Given the description of an element on the screen output the (x, y) to click on. 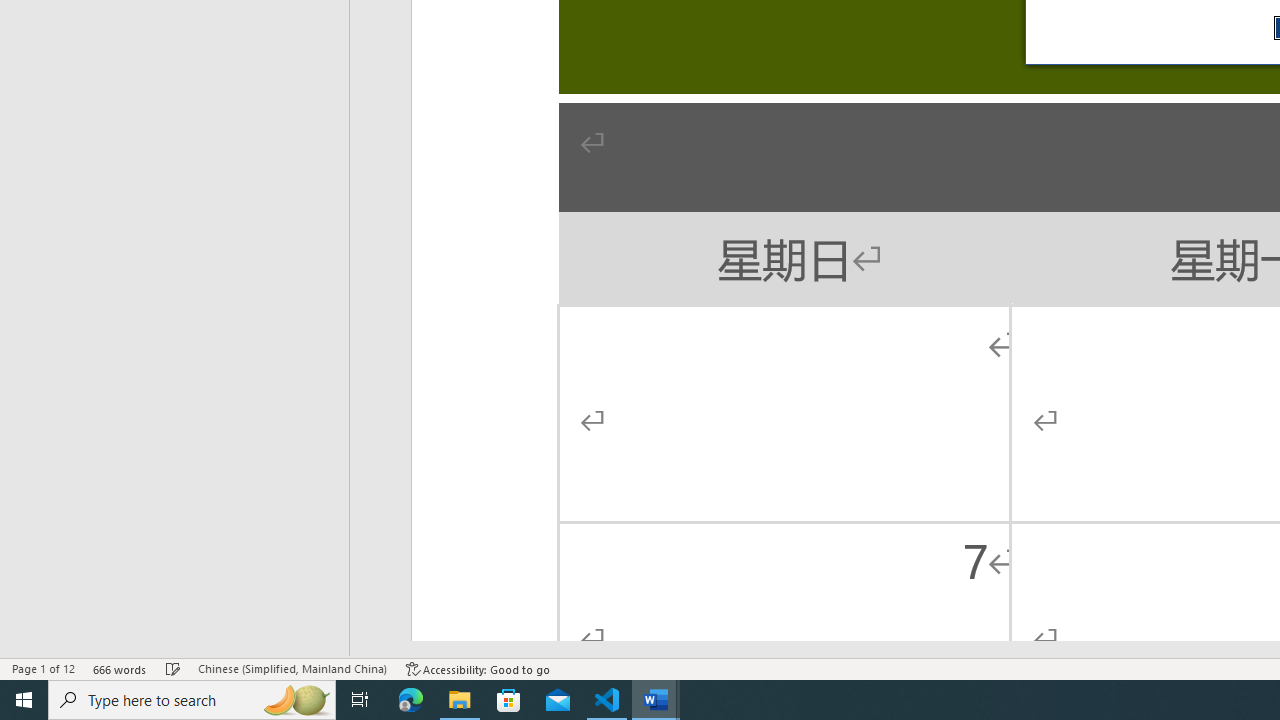
Word Count 666 words (119, 668)
File Explorer - 1 running window (460, 699)
Microsoft Store (509, 699)
Language Chinese (Simplified, Mainland China) (292, 668)
Start (24, 699)
Visual Studio Code - 1 running window (607, 699)
Task View (359, 699)
Accessibility Checker Accessibility: Good to go (478, 668)
Search highlights icon opens search home window (295, 699)
Page Number Page 1 of 12 (43, 668)
Microsoft Edge (411, 699)
Spelling and Grammar Check Checking (173, 668)
Word - 2 running windows (656, 699)
